Given the description of an element on the screen output the (x, y) to click on. 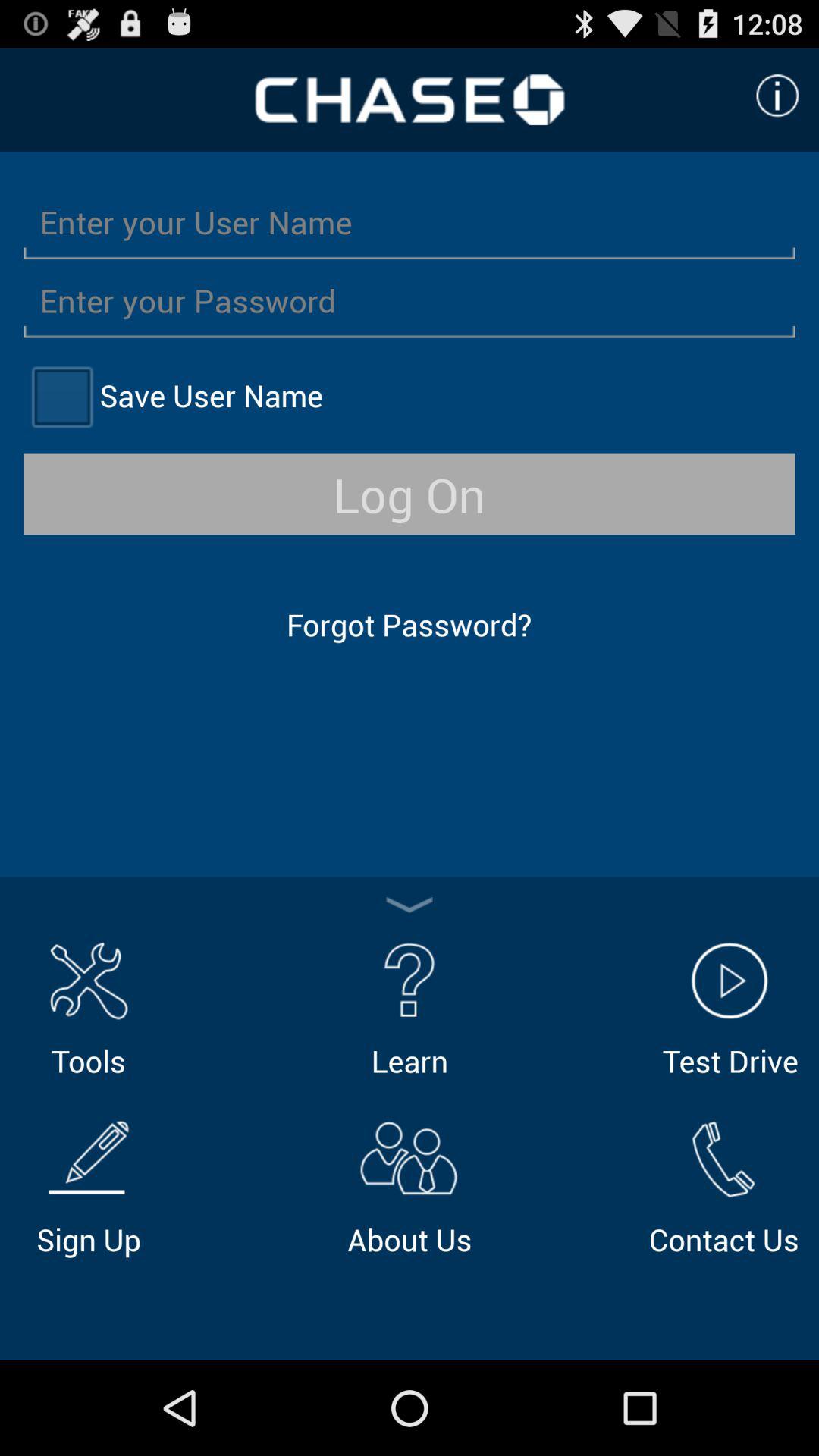
jump to sign up (88, 1185)
